Given the description of an element on the screen output the (x, y) to click on. 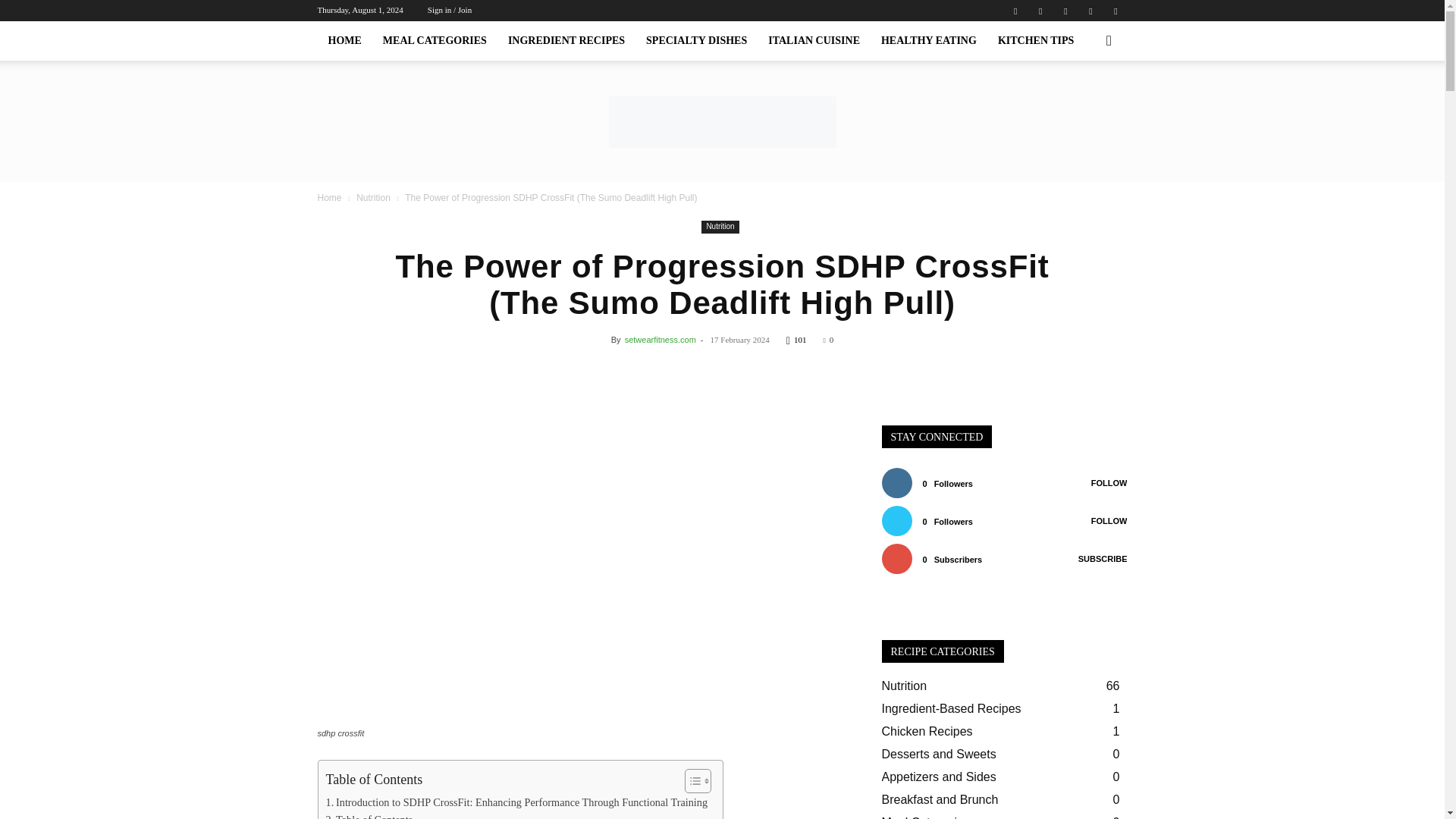
Facebook (1040, 10)
VKontakte (1090, 10)
Twitter (1065, 10)
Youtube (1114, 10)
MEAL CATEGORIES (434, 40)
HOME (344, 40)
Evernote (1015, 10)
INGREDIENT RECIPES (565, 40)
